Given the description of an element on the screen output the (x, y) to click on. 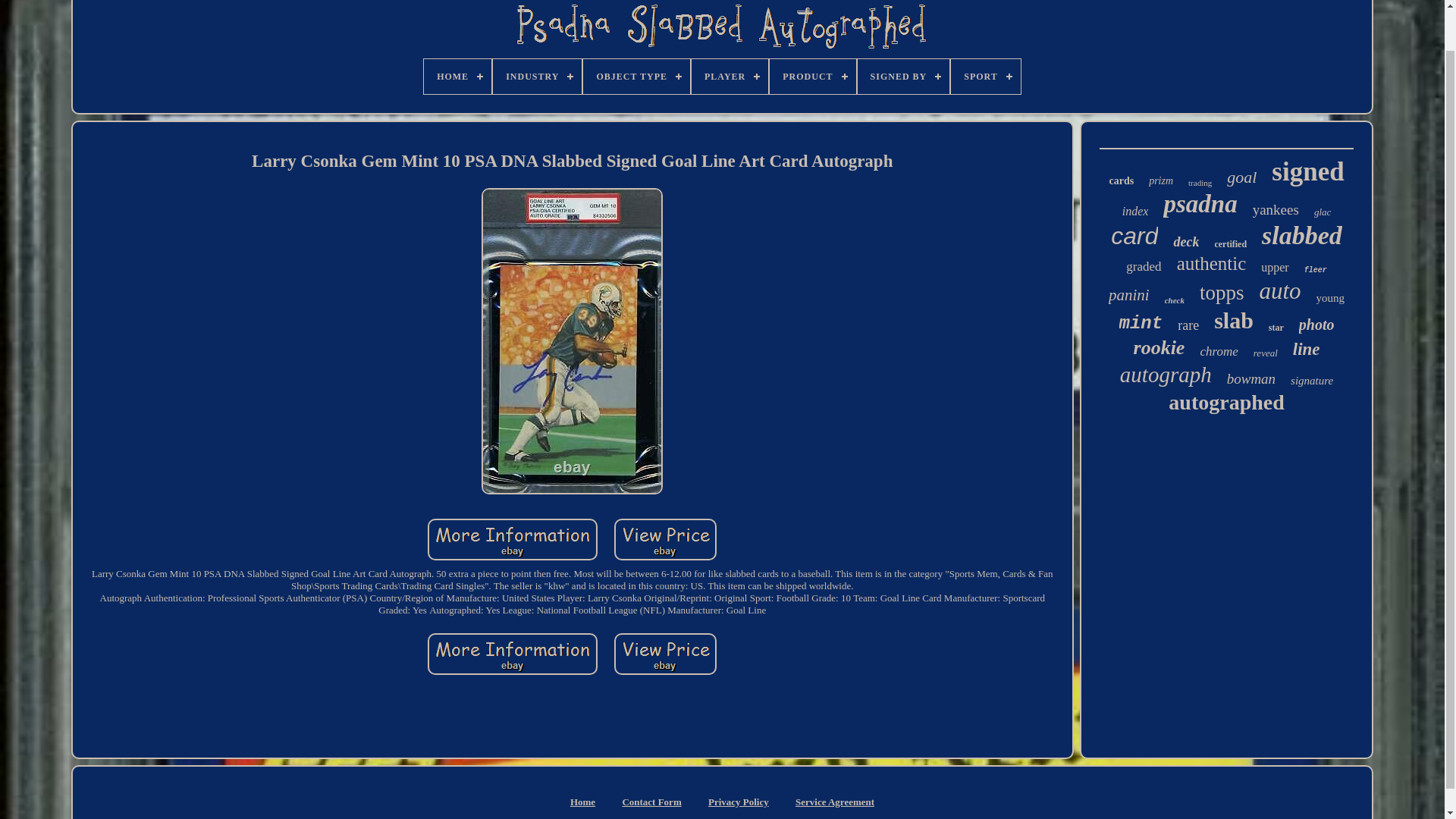
INDUSTRY (536, 76)
OBJECT TYPE (636, 76)
HOME (457, 76)
